Given the description of an element on the screen output the (x, y) to click on. 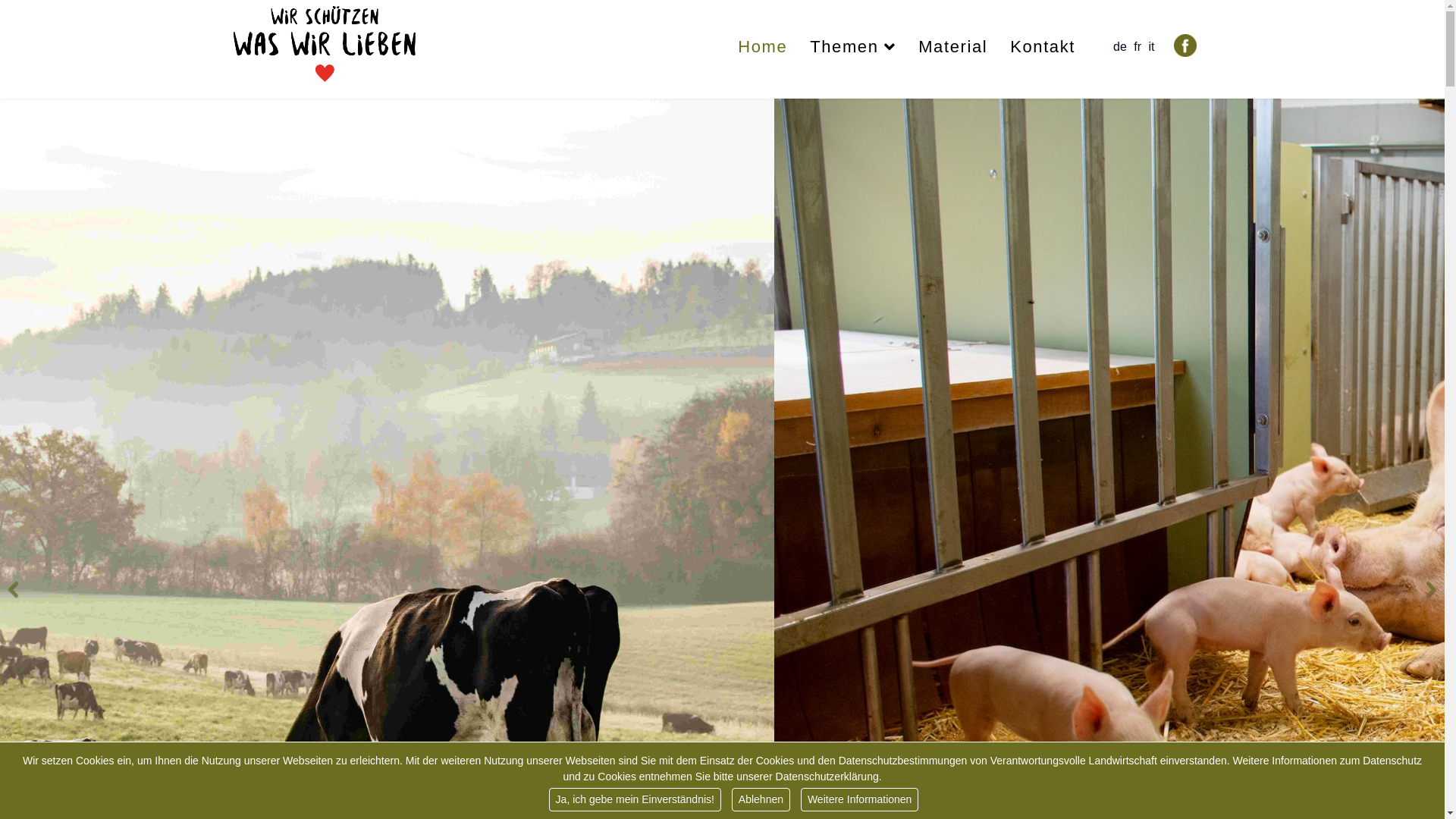
Home Element type: text (762, 46)
it Element type: text (1151, 46)
Material Element type: text (952, 46)
Weitere Informationen Element type: text (859, 799)
fr Element type: text (1137, 46)
Themen Element type: text (852, 46)
de Element type: text (1119, 46)
Ablehnen Element type: text (760, 799)
Kontakt Element type: text (1036, 46)
